Given the description of an element on the screen output the (x, y) to click on. 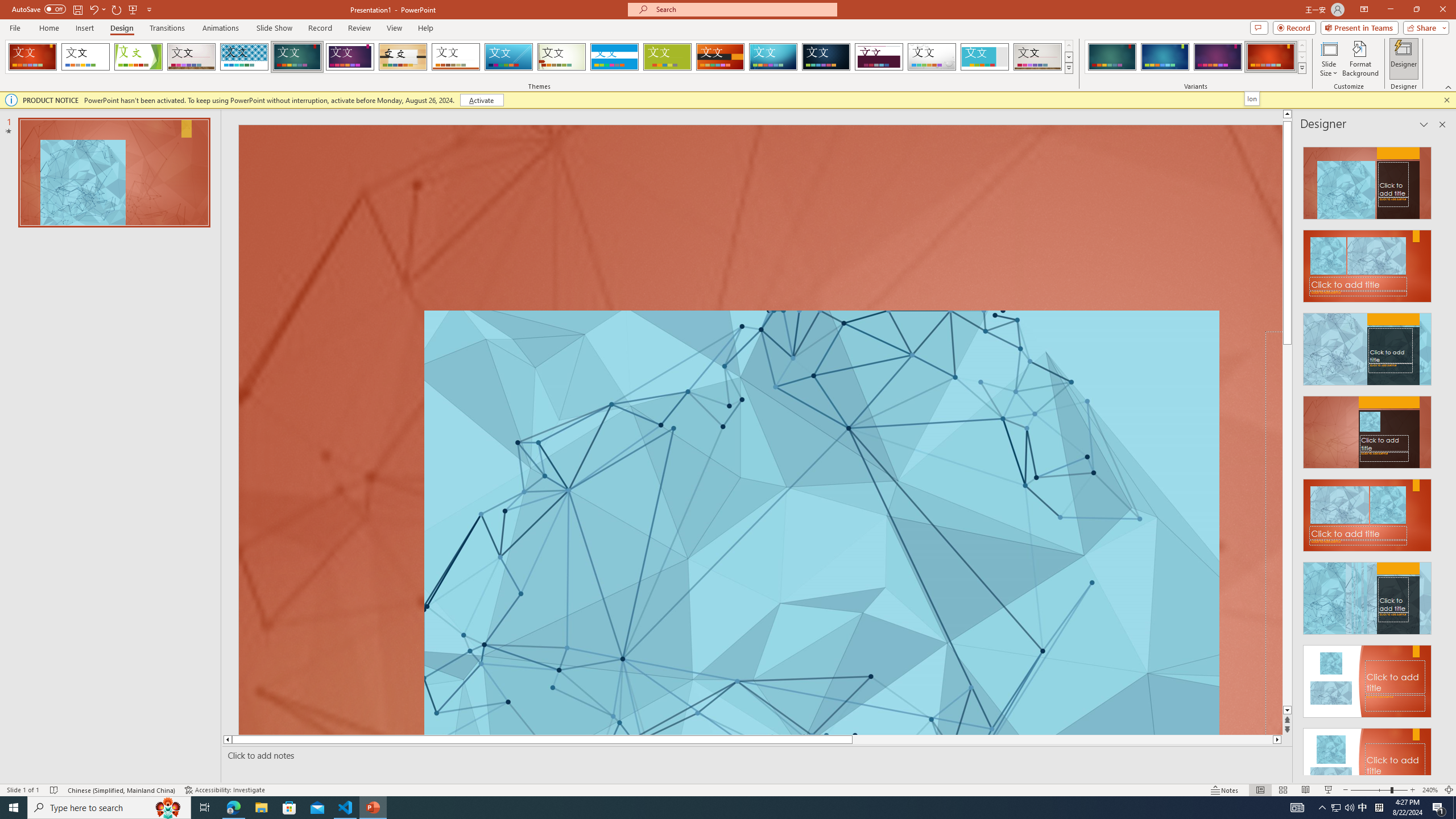
Berlin (720, 56)
